Given the description of an element on the screen output the (x, y) to click on. 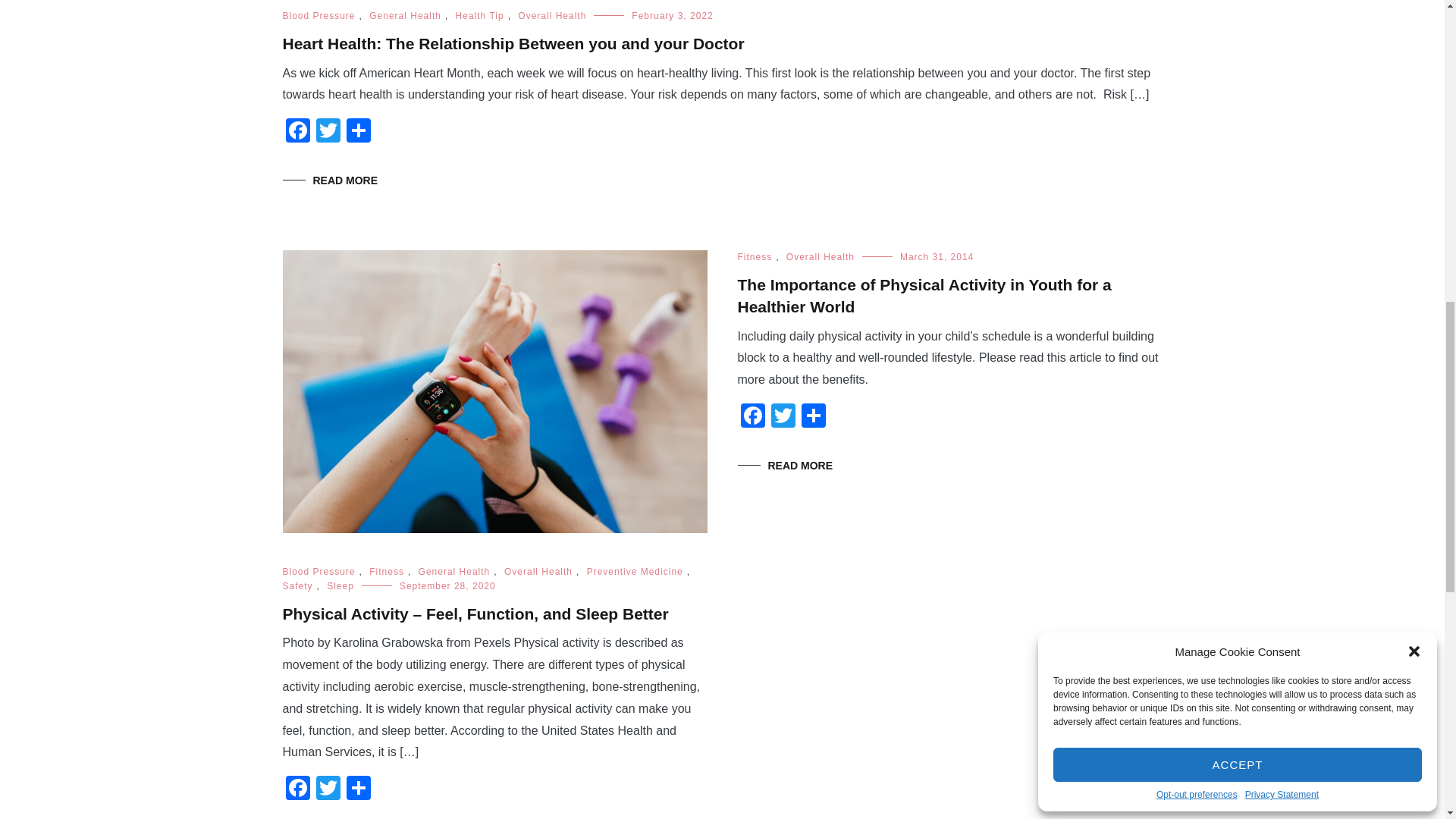
Facebook (297, 131)
Facebook (751, 417)
Twitter (327, 131)
General Health (405, 15)
Heart Health: The Relationship Between you and your Doctor (513, 43)
Facebook (297, 131)
Twitter (327, 789)
February 3, 2022 (672, 15)
Twitter (782, 417)
Blood Pressure (318, 15)
Health Tip (479, 15)
Facebook (297, 789)
Overall Health (552, 15)
